Given the description of an element on the screen output the (x, y) to click on. 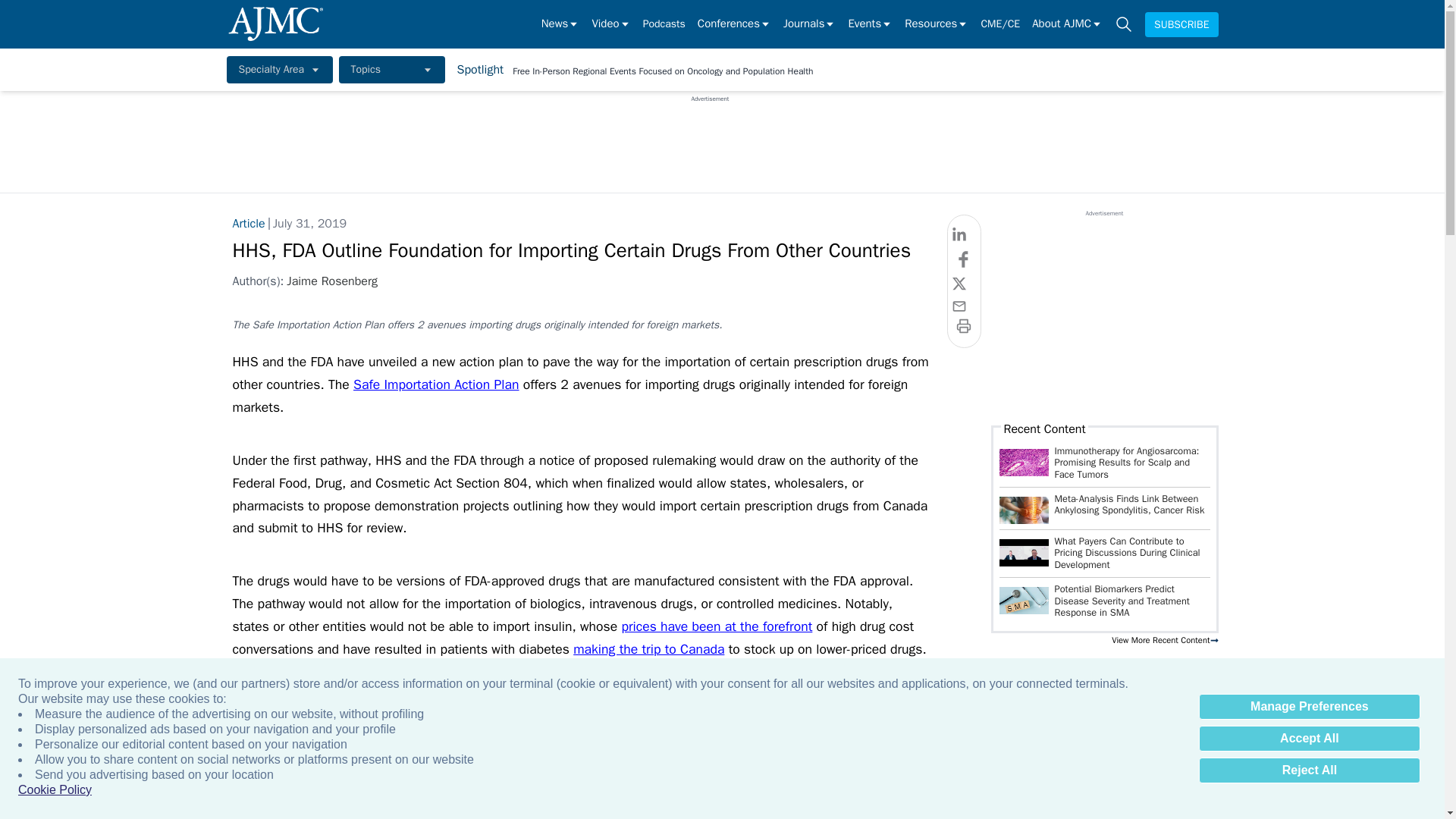
3rd party ad content (709, 137)
Reject All (1309, 769)
Events (869, 24)
3rd party ad content (1103, 312)
News (560, 24)
Journals (809, 24)
Podcasts (664, 24)
Video (610, 24)
Accept All (1309, 738)
Fulling and Cournoyer (1023, 552)
Conferences (734, 24)
Cookie Policy (54, 789)
Manage Preferences (1309, 706)
